Given the description of an element on the screen output the (x, y) to click on. 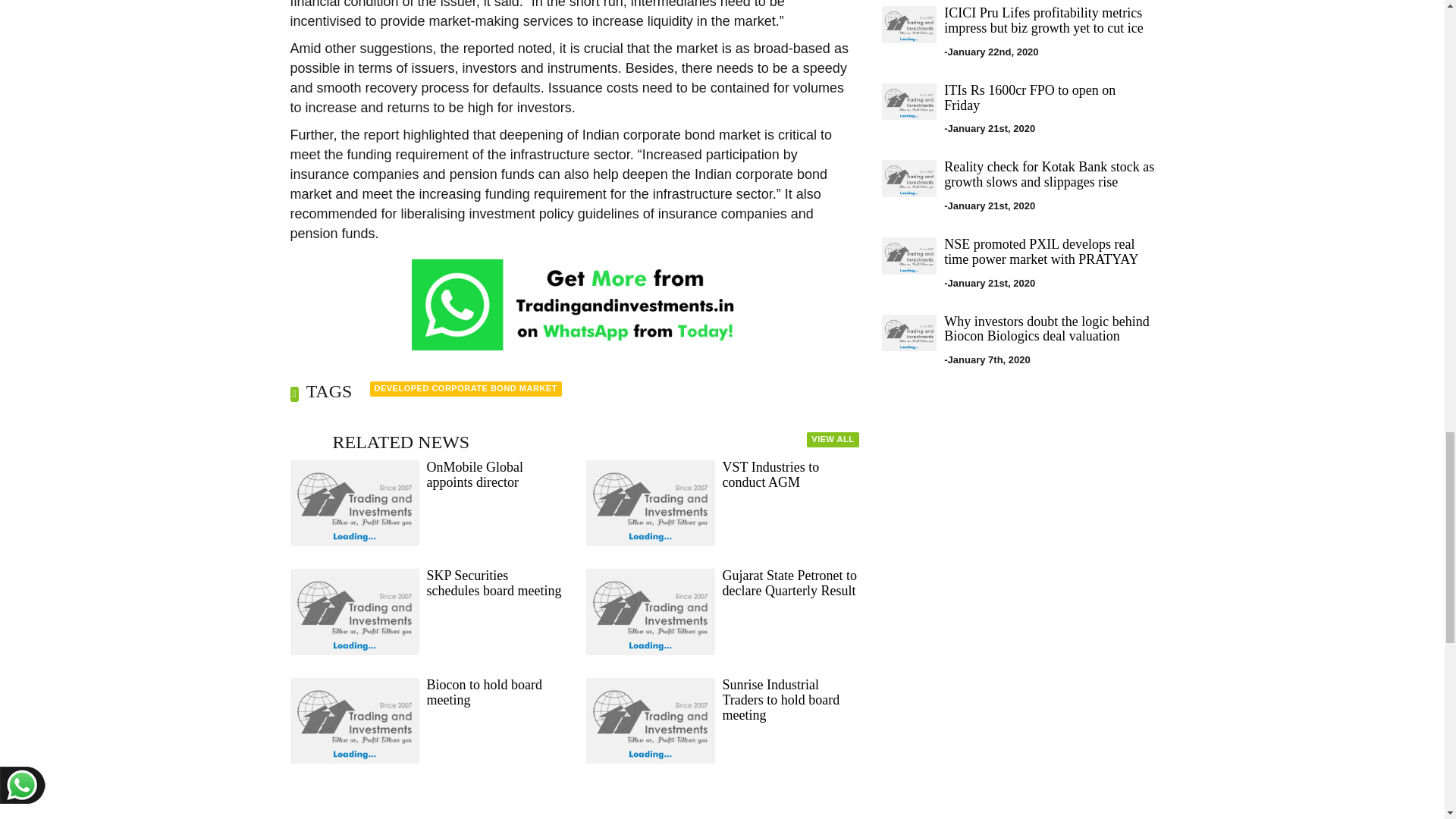
DEVELOPED CORPORATE BOND MARKET (465, 388)
SKP Securities schedules board meeting (493, 583)
OnMobile Global appoints director (474, 474)
VIEW ALL (832, 439)
VST Industries to conduct AGM (770, 474)
Gujarat State Petronet to declare Quarterly Result (789, 583)
